Given the description of an element on the screen output the (x, y) to click on. 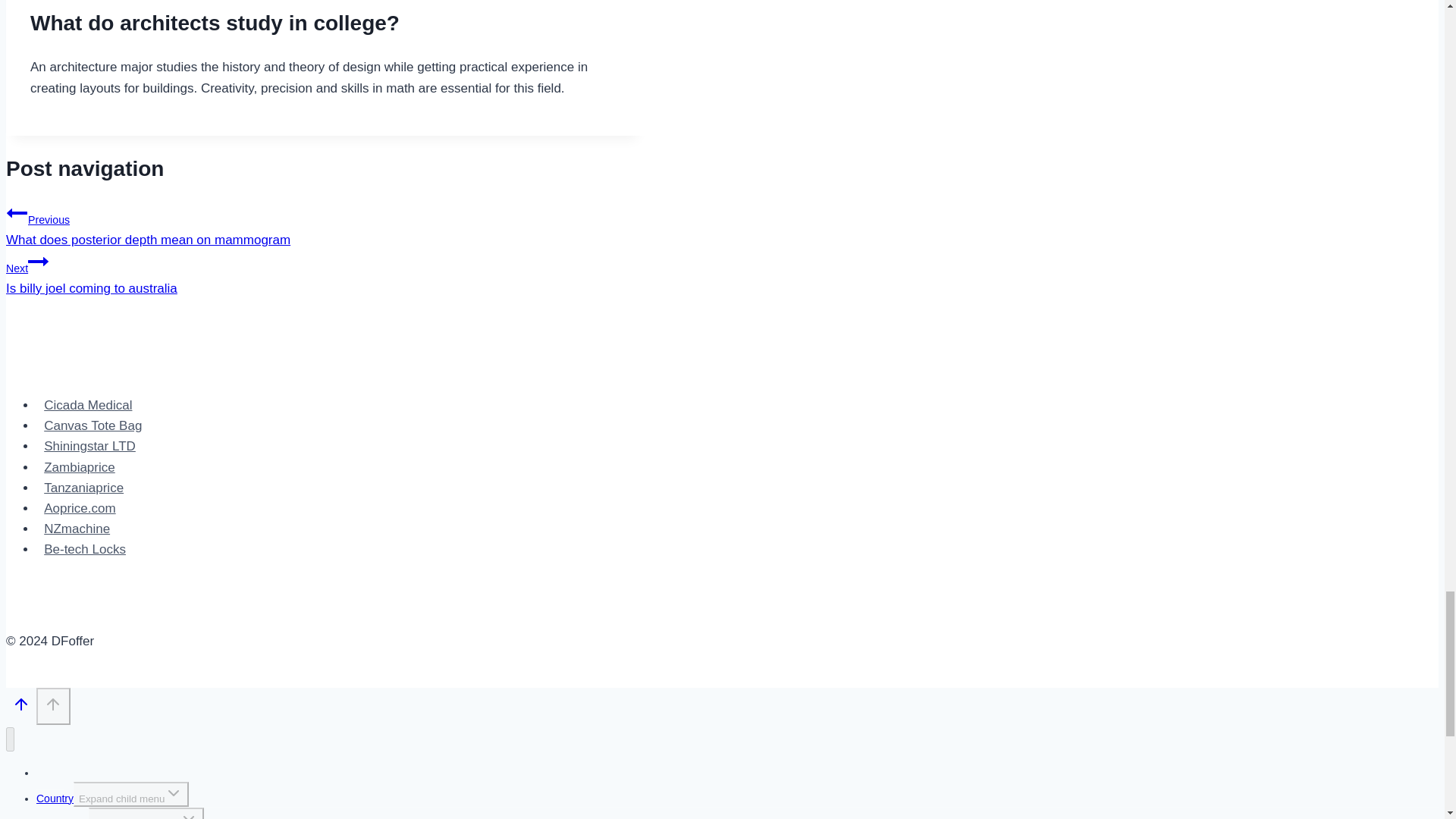
Shiningstar LTD (89, 445)
Expand (173, 792)
Aoprice.com (79, 508)
Previous (16, 212)
Expand (188, 814)
Canvas Tote Bag (92, 425)
Continue (37, 260)
Tanzaniaprice (83, 487)
Scroll to top (325, 272)
